Given the description of an element on the screen output the (x, y) to click on. 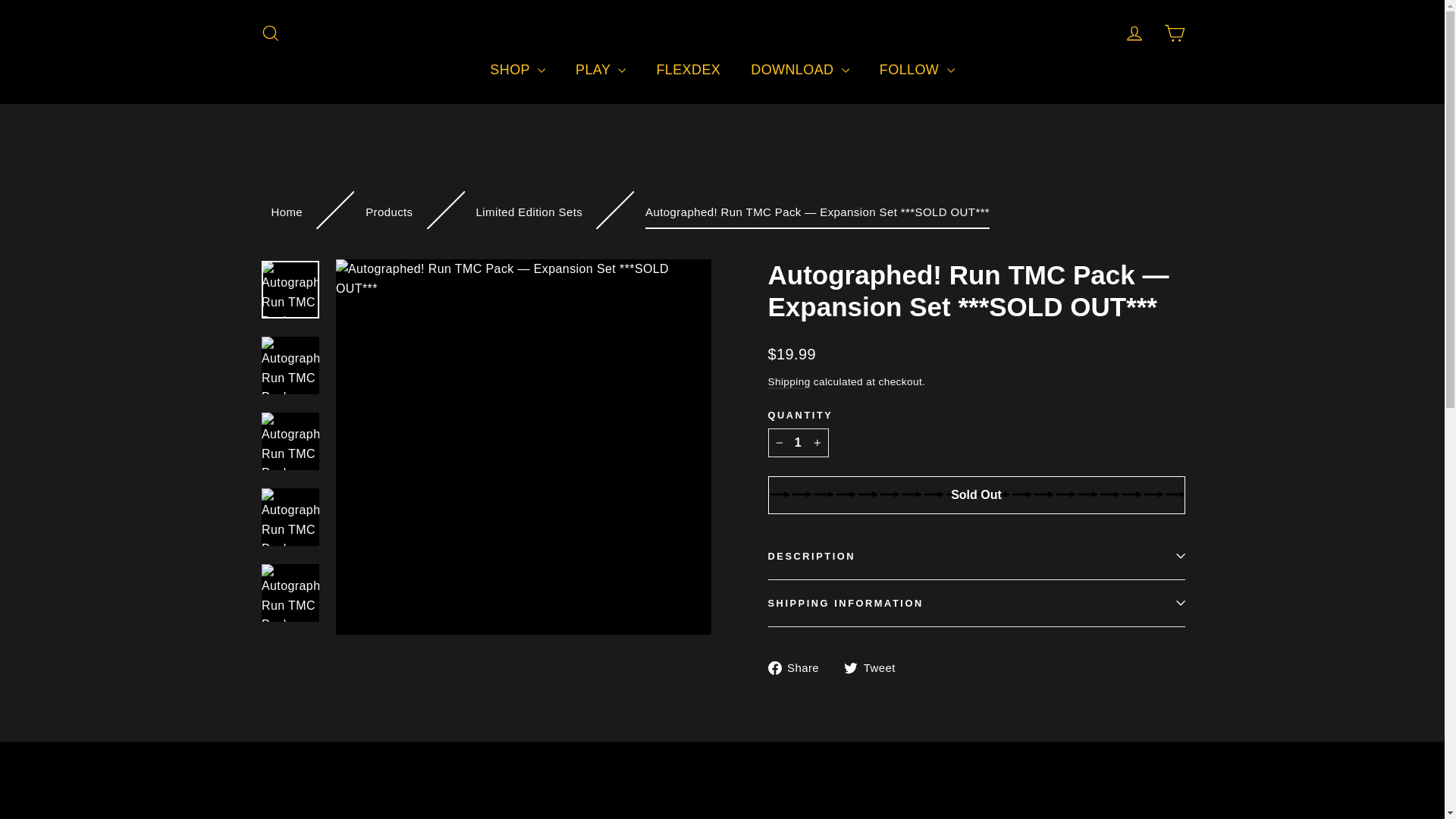
Search (269, 33)
DOWNLOAD (799, 69)
PLAY (600, 69)
1 (797, 442)
FLEXDEX (687, 69)
Share on Facebook (798, 667)
Cart (1173, 33)
Back to the frontpage (286, 211)
Log in (1134, 33)
SHOP (517, 69)
Tweet on Twitter (875, 667)
